Given the description of an element on the screen output the (x, y) to click on. 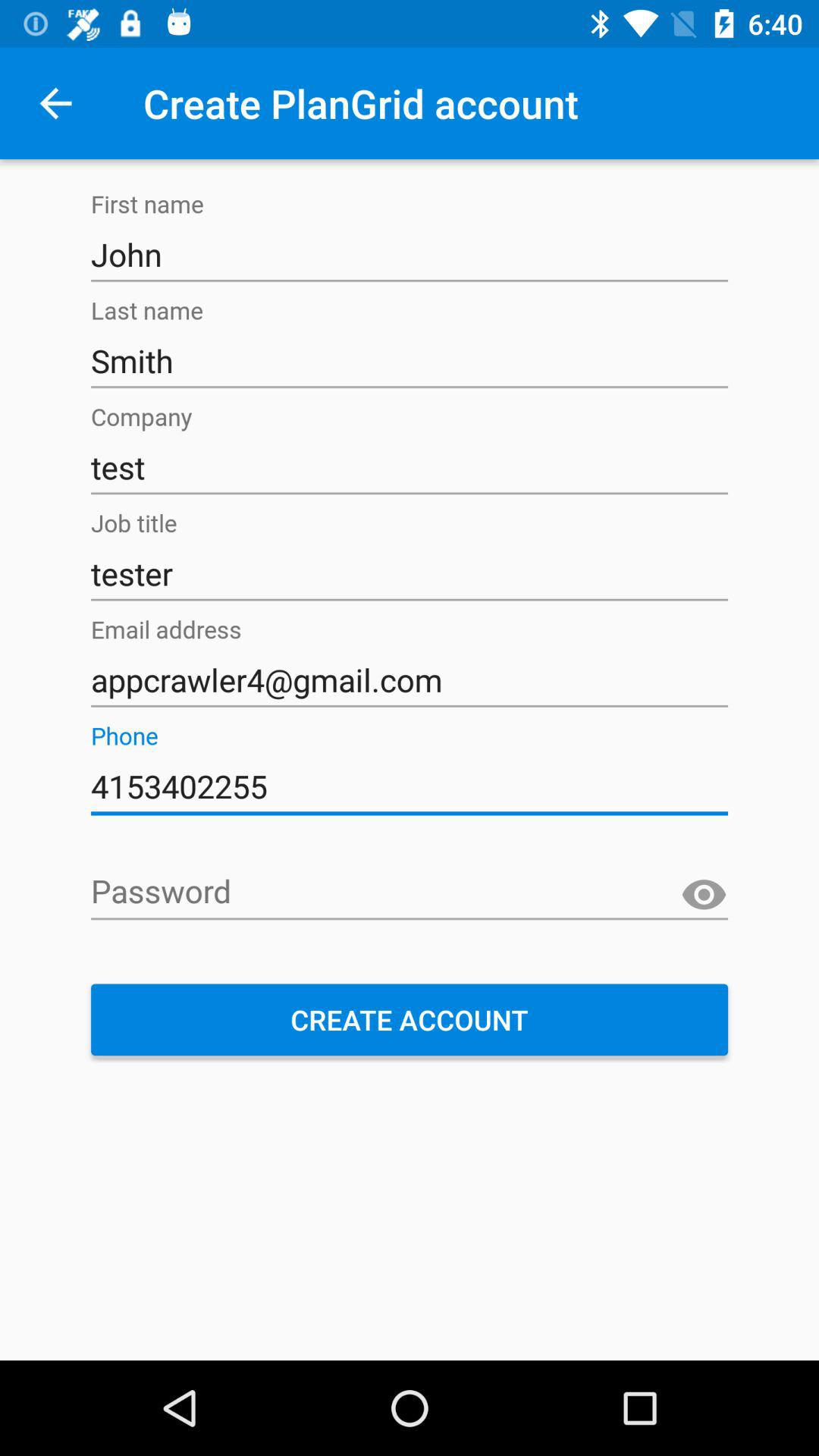
select icon below smith item (409, 467)
